Given the description of an element on the screen output the (x, y) to click on. 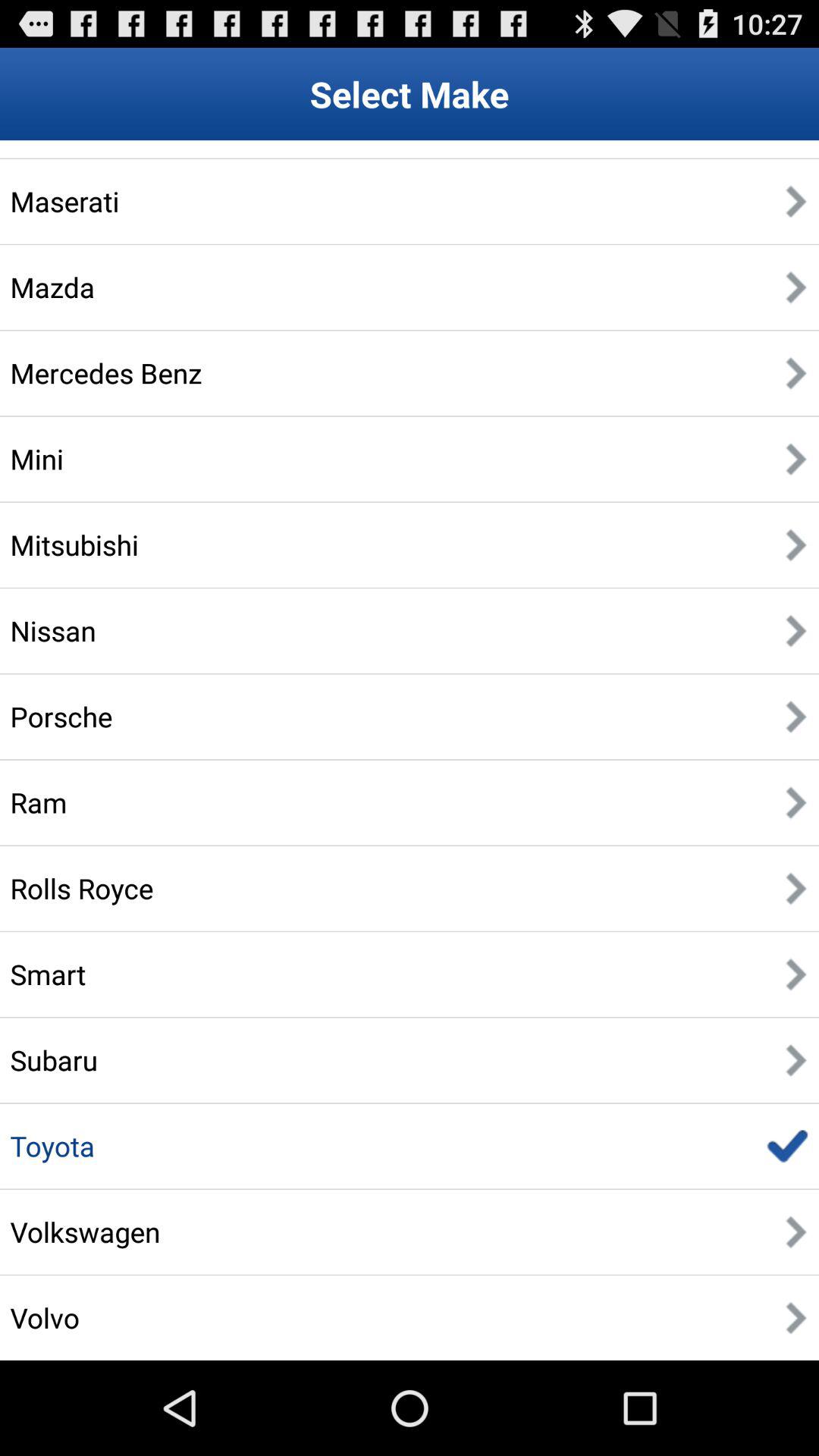
scroll until porsche (61, 716)
